Given the description of an element on the screen output the (x, y) to click on. 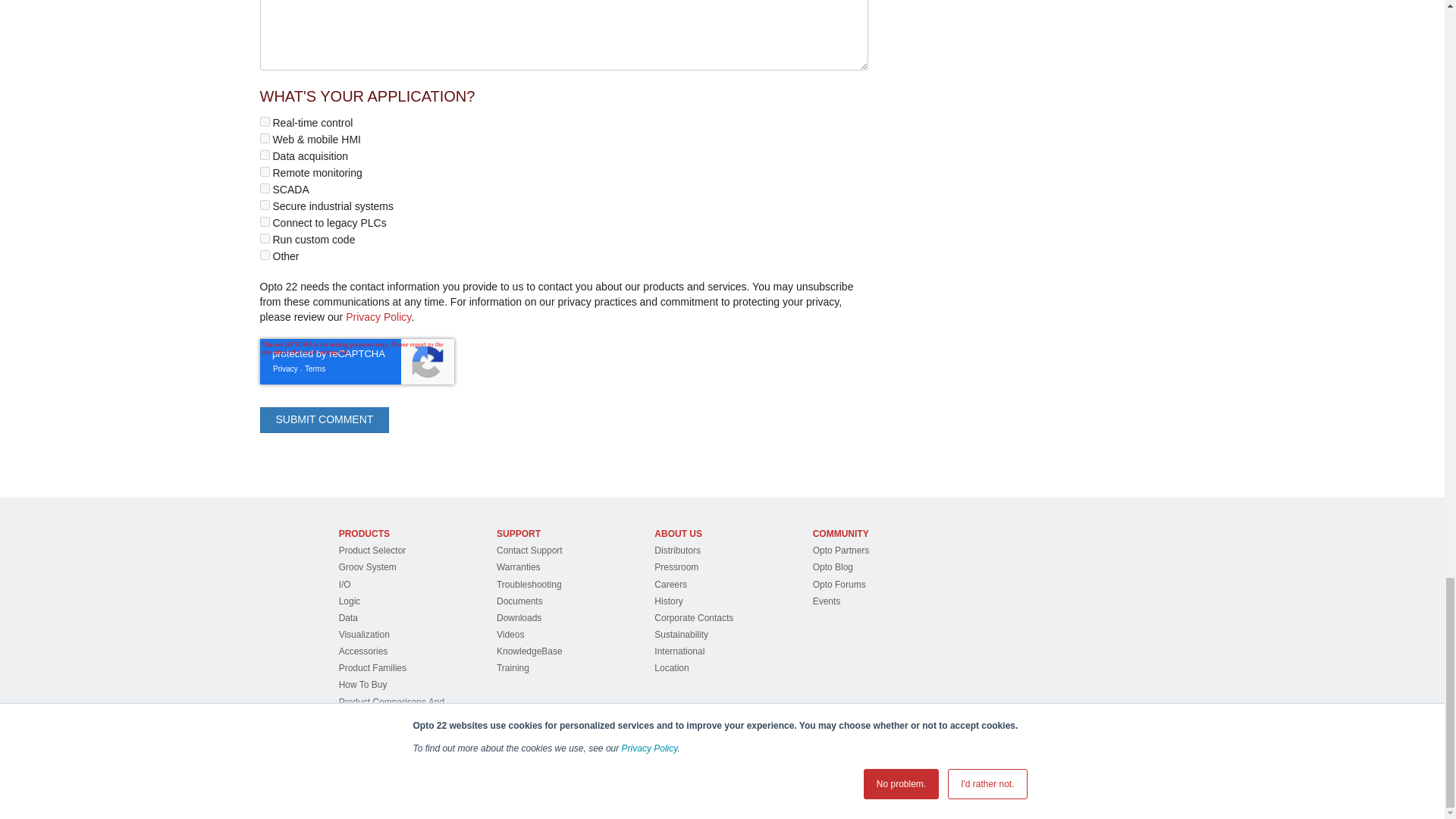
Submit Comment (323, 420)
SCADA (264, 188)
Run custom code (264, 238)
reCAPTCHA (355, 361)
Connect to legacy PLCs (264, 221)
Real-time control (264, 121)
Other (264, 255)
Remote monitoring (264, 171)
Data acquisition (264, 154)
Secure industrial systems (264, 204)
